Given the description of an element on the screen output the (x, y) to click on. 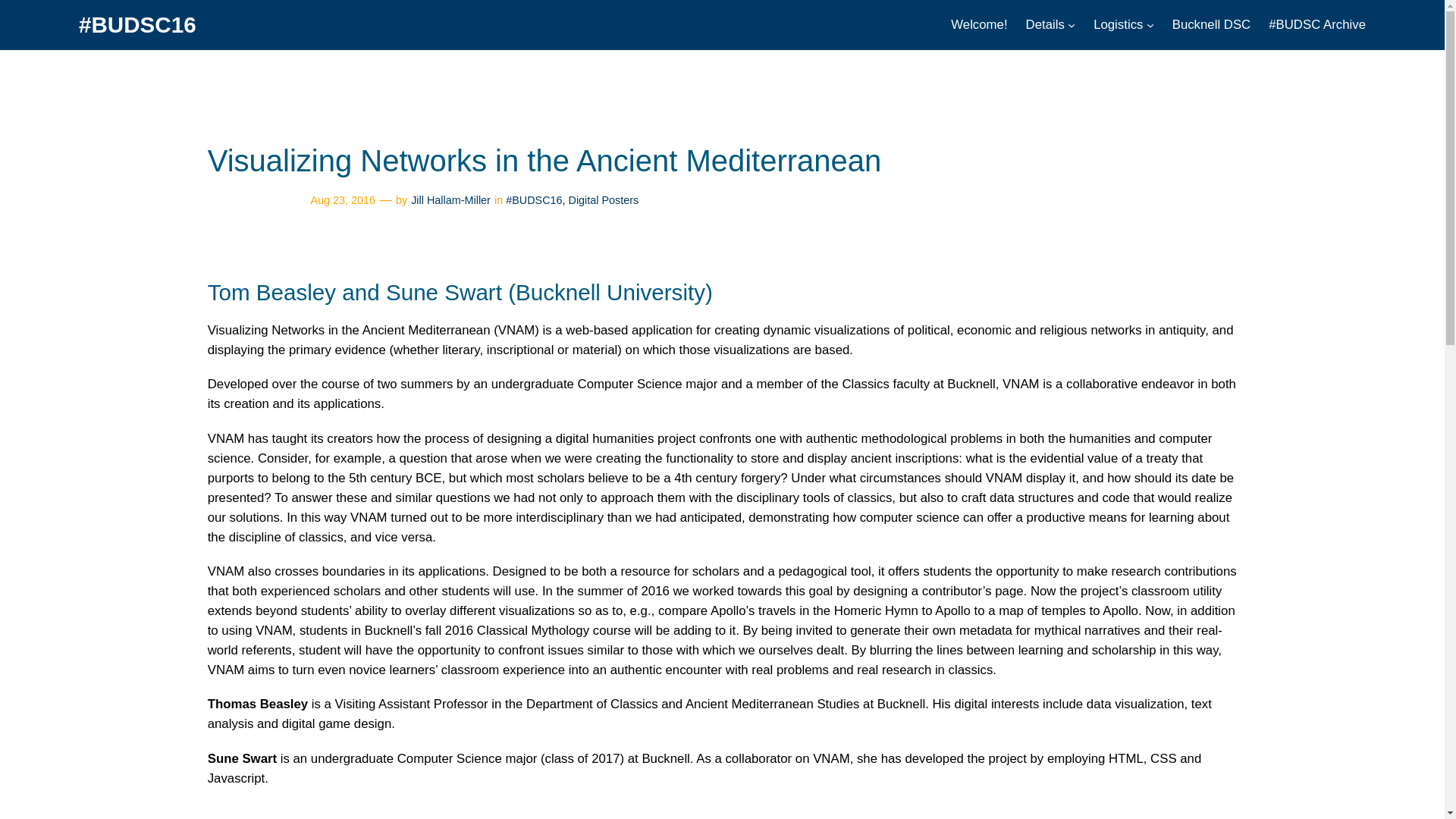
Details (1045, 25)
Logistics (1117, 25)
Welcome! (978, 25)
Digital Posters (604, 200)
Bucknell DSC (1211, 25)
Aug 23, 2016 (342, 200)
Jill Hallam-Miller (450, 200)
